Given the description of an element on the screen output the (x, y) to click on. 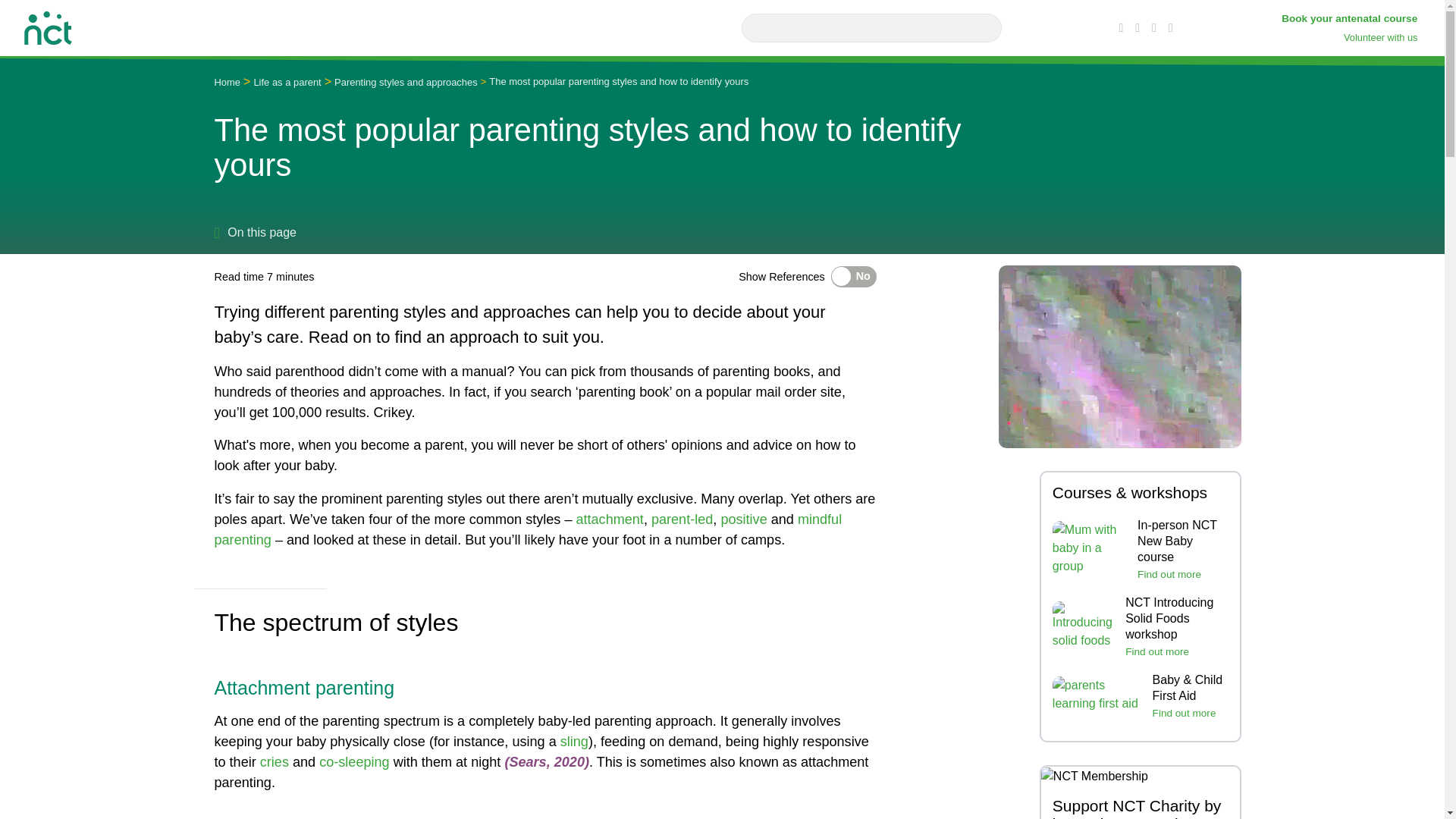
Book your antenatal course (1351, 18)
Follow us on Twitter (1138, 27)
Volunteer with us  (1382, 37)
Search (987, 28)
Enter the terms you wish to search for. (872, 27)
Search (987, 28)
Life as a parent (286, 81)
Follow us on Facebook (1121, 27)
On this page (254, 232)
Parenting styles and approaches (405, 81)
Home (47, 26)
Book your antenatal course  (1351, 18)
